Given the description of an element on the screen output the (x, y) to click on. 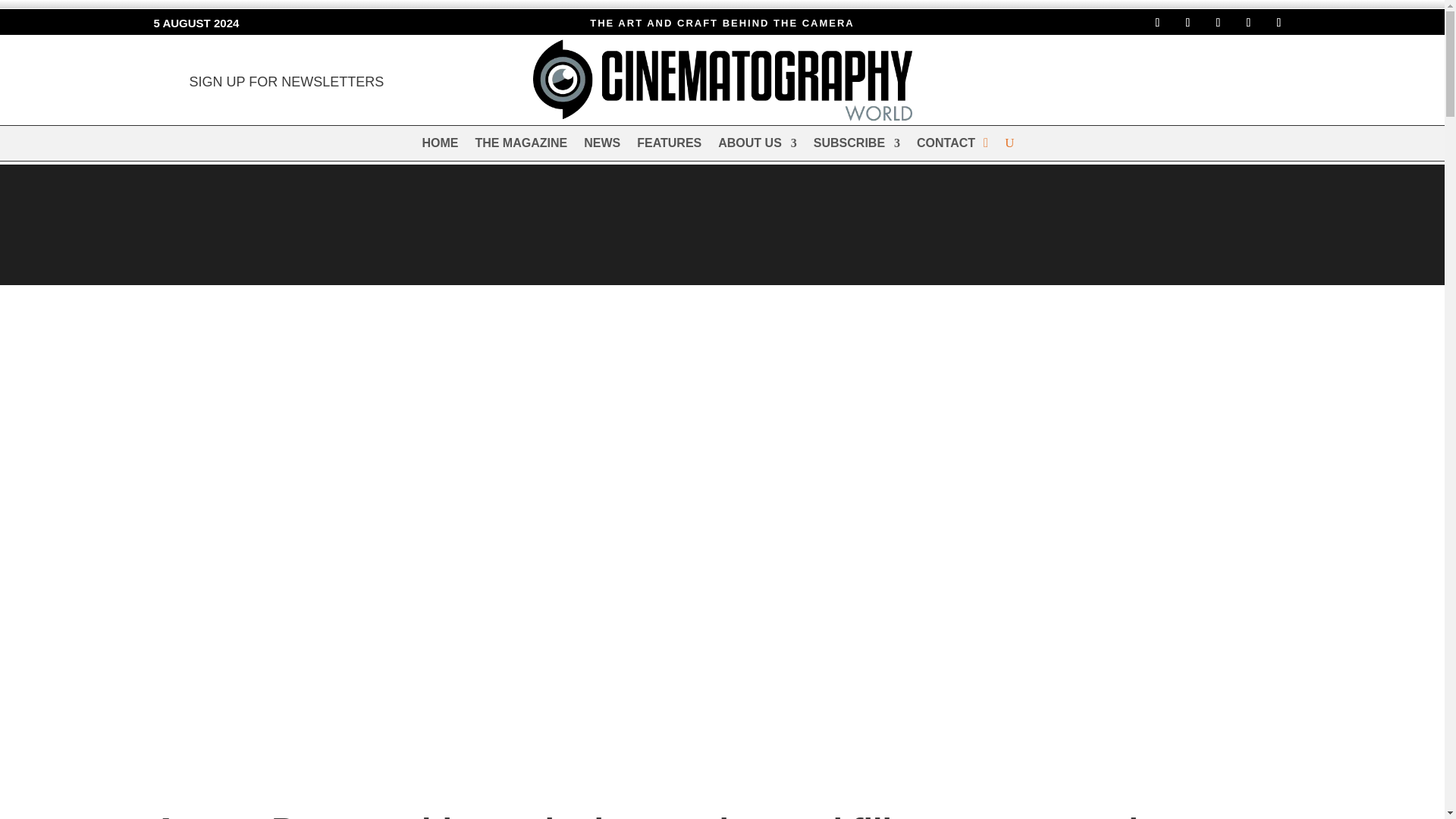
NEWS (601, 146)
Follow on LinkedIn (1248, 22)
Follow on Facebook (1156, 22)
HOME (440, 146)
Follow on Youtube (1278, 22)
CW-masthead (721, 80)
FEATURES (669, 146)
THE MAGAZINE (520, 146)
Follow on X (1217, 22)
CONTACT (946, 146)
